Given the description of an element on the screen output the (x, y) to click on. 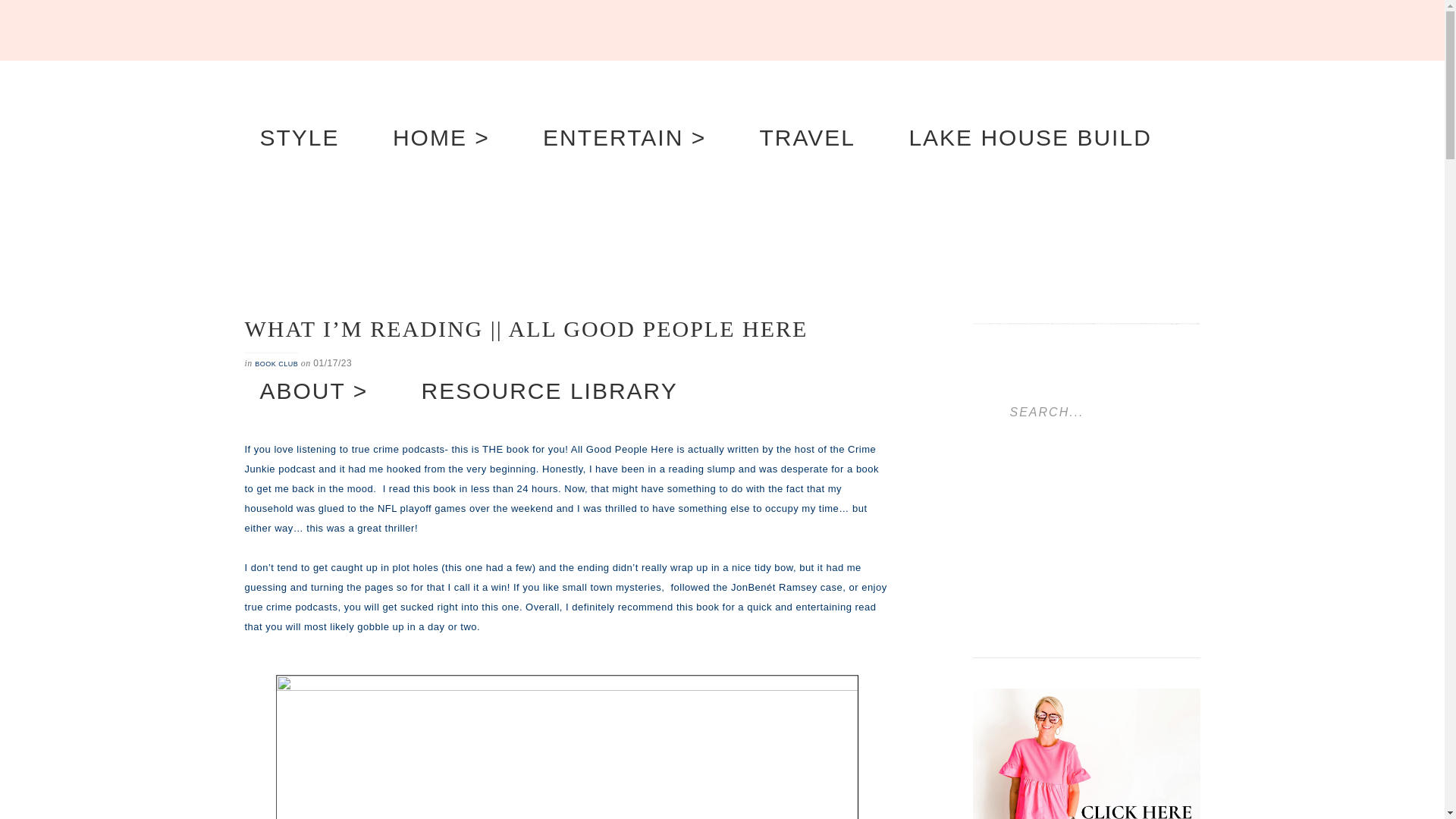
RESOURCE LIBRARY (549, 390)
BOOK CLUB (276, 363)
LAKE HOUSE BUILD (1029, 137)
